Given the description of an element on the screen output the (x, y) to click on. 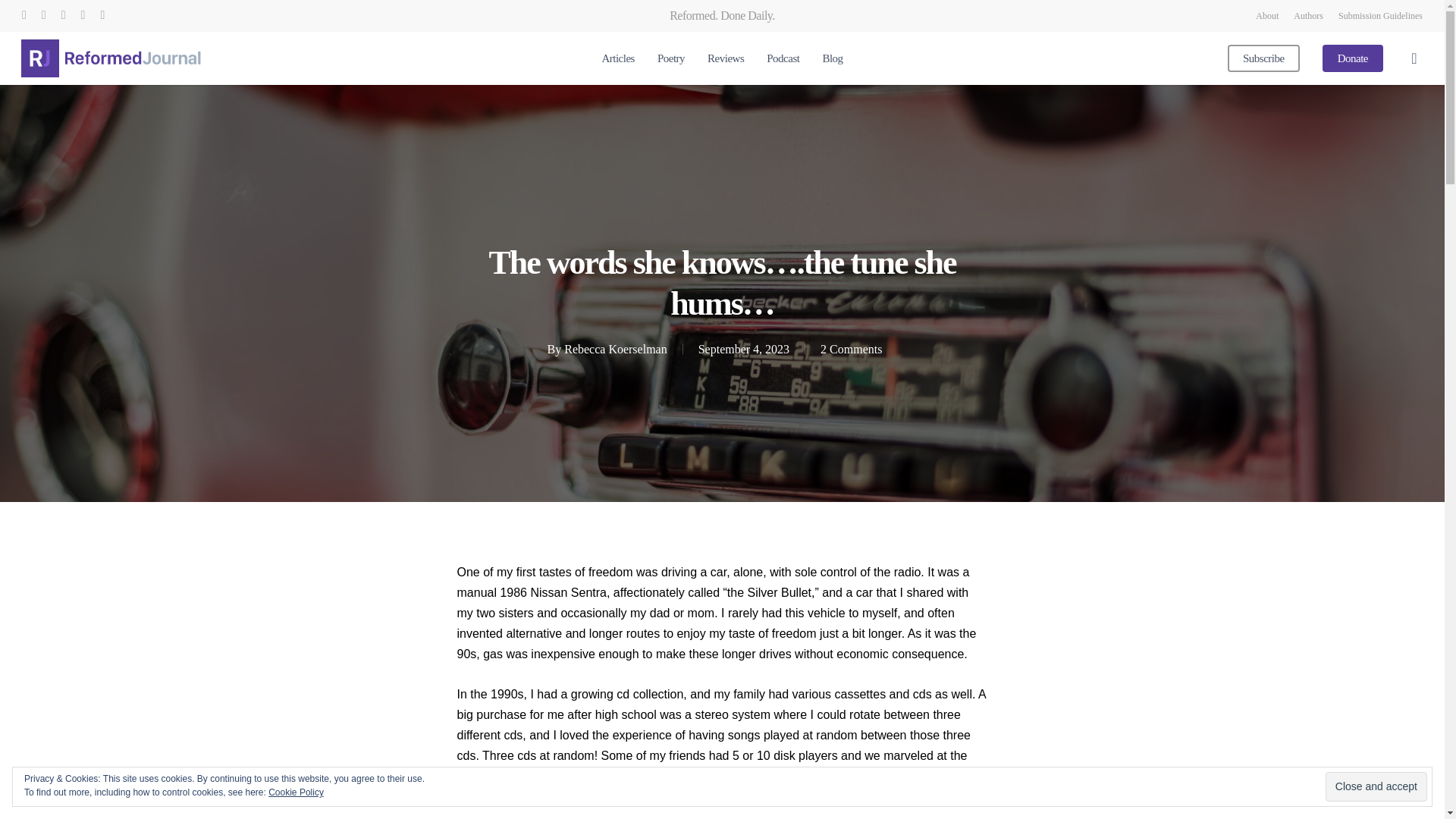
Posts by Rebecca Koerselman (615, 349)
Rebecca Koerselman (615, 349)
Submission Guidelines (1380, 15)
Blog (832, 58)
About (1266, 15)
2 Comments (851, 349)
Podcast (783, 58)
search (1414, 57)
Poetry (671, 58)
Articles (617, 58)
Authors (1308, 15)
Donate (1352, 58)
Reviews (725, 58)
Subscribe (1263, 58)
Close and accept (1375, 786)
